Given the description of an element on the screen output the (x, y) to click on. 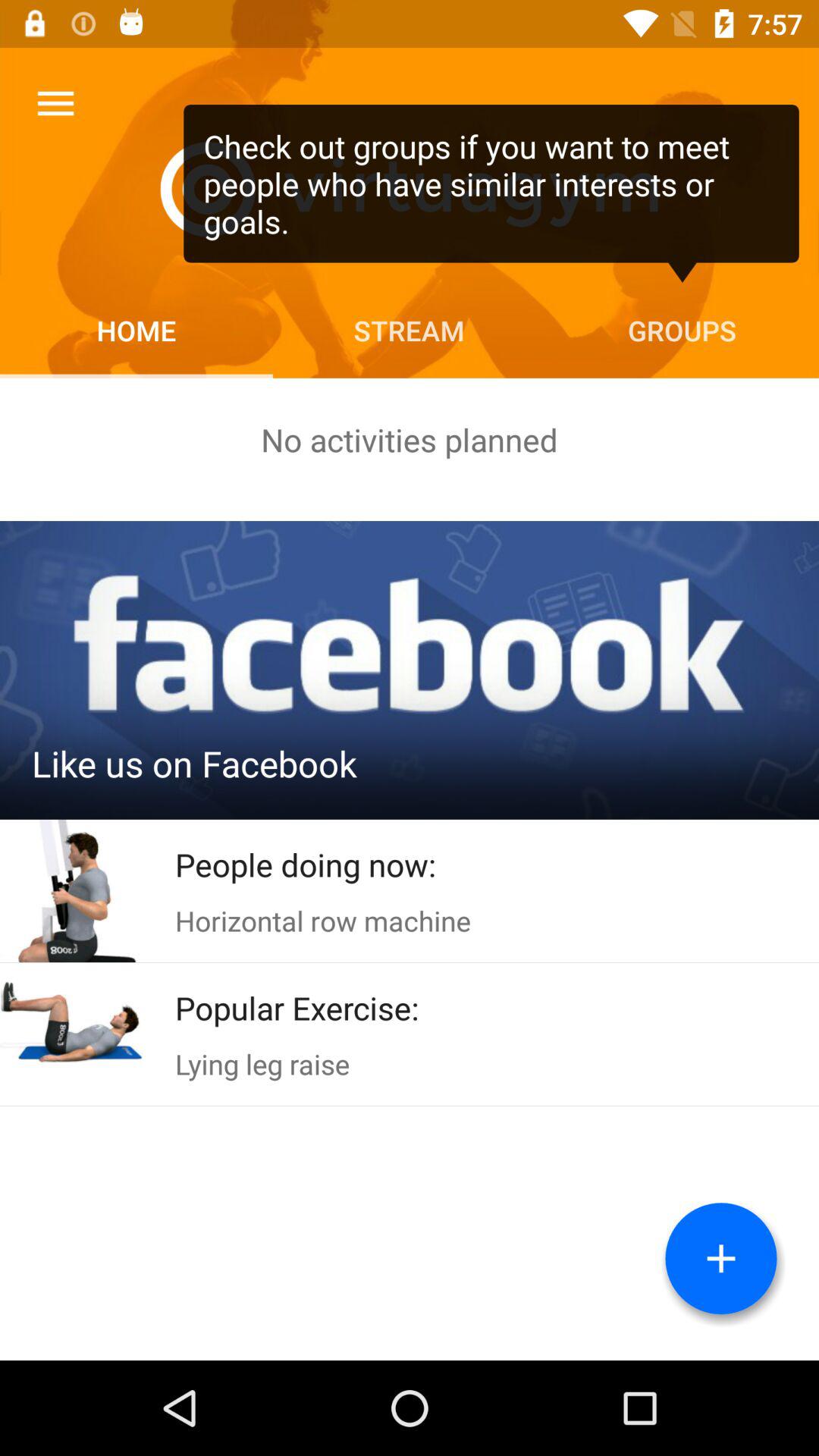
select the add button which is on the bottom right corner of the page (721, 1258)
click on the plus icon (721, 1259)
